Given the description of an element on the screen output the (x, y) to click on. 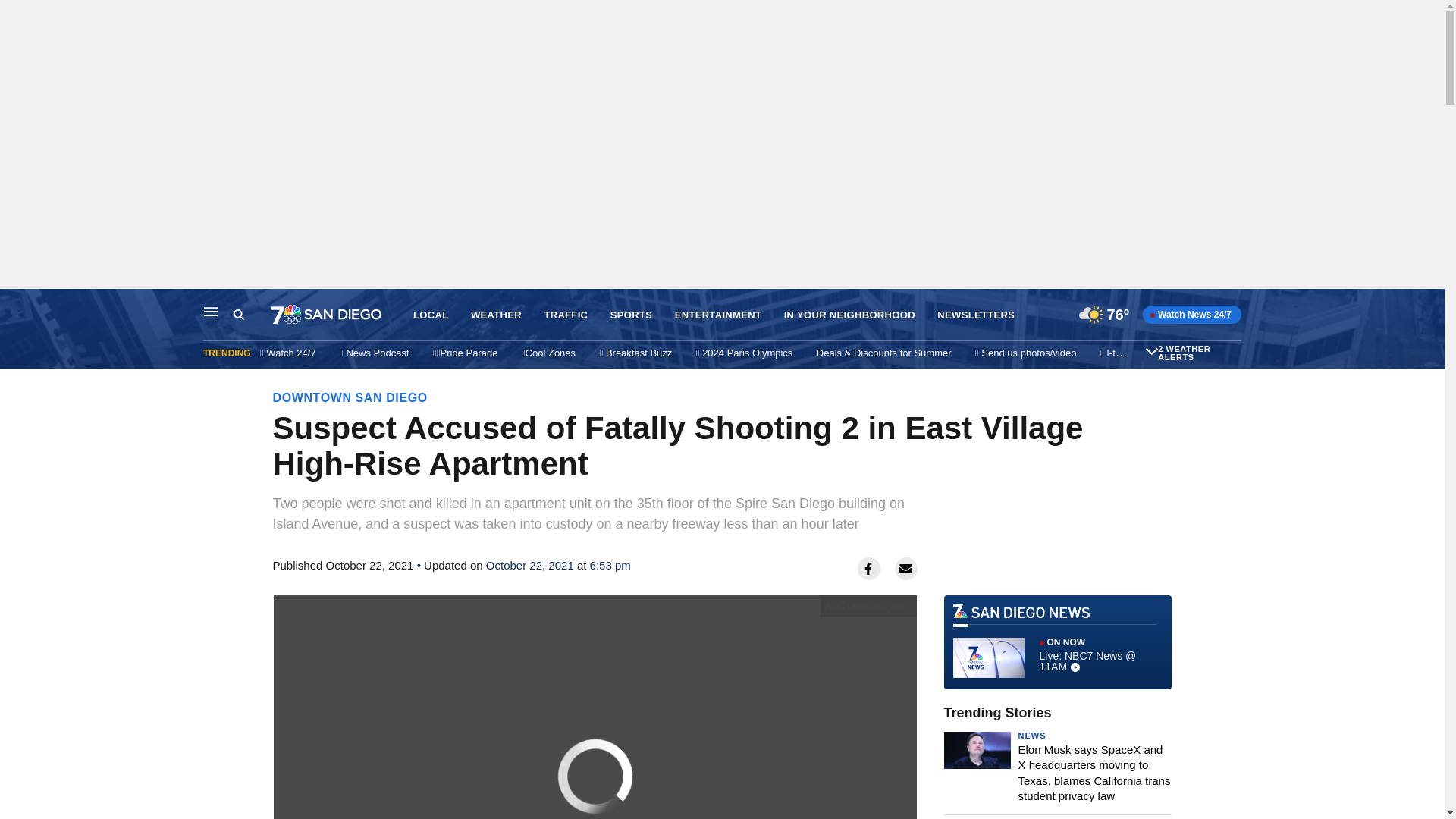
Skip to content (16, 304)
ENTERTAINMENT (718, 315)
NEWSLETTERS (975, 315)
TRAFFIC (565, 315)
2 WEATHER ALERTS (1197, 352)
Search (252, 314)
DOWNTOWN SAN DIEGO (350, 397)
Expand (1151, 350)
WEATHER (495, 315)
IN YOUR NEIGHBORHOOD (849, 315)
LOCAL (430, 315)
SPORTS (631, 315)
Search (238, 314)
Main Navigation (210, 311)
